Given the description of an element on the screen output the (x, y) to click on. 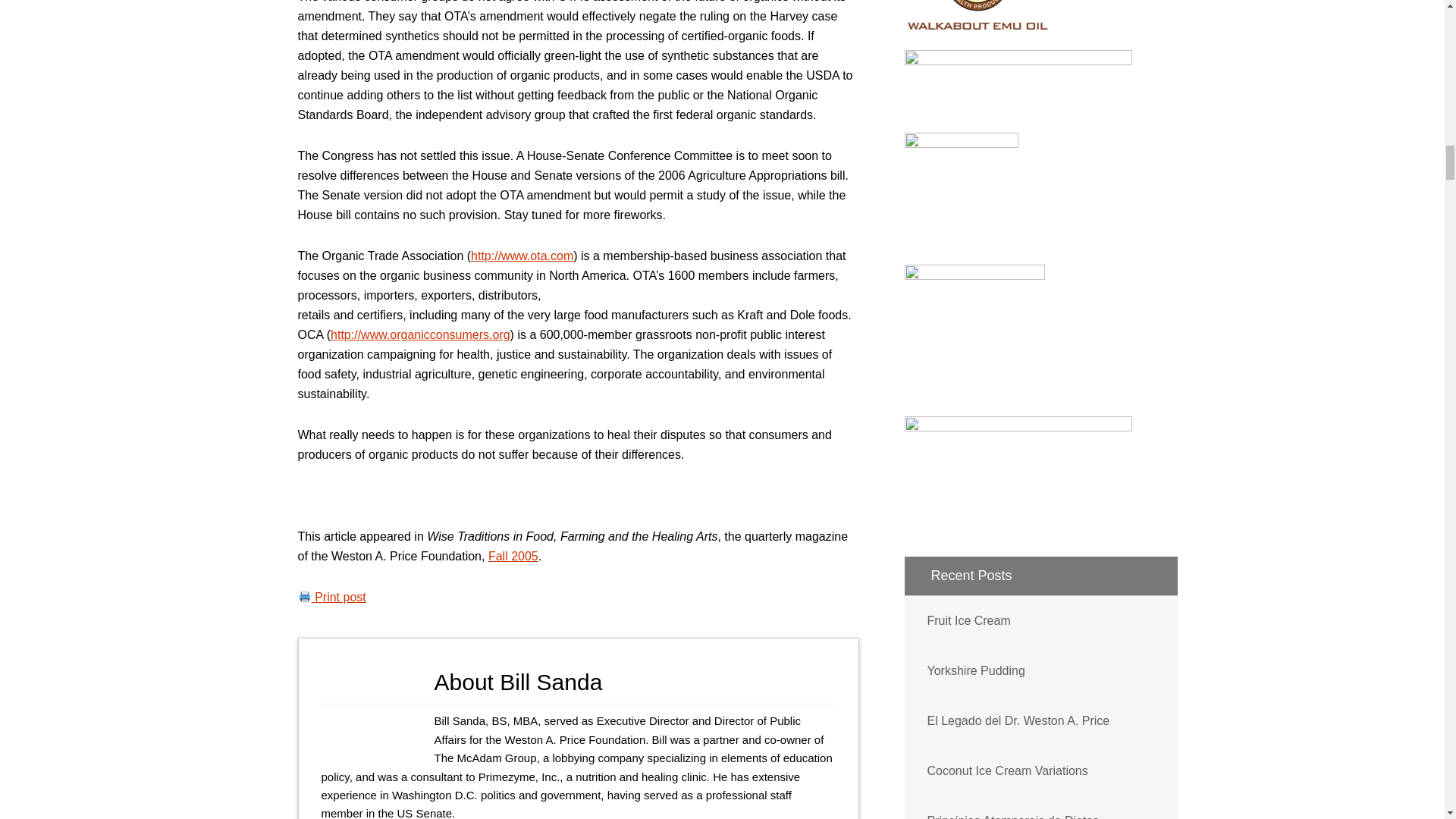
Journal, Fall 2005, The Research of Weston A. Price, DDS (512, 555)
